Given the description of an element on the screen output the (x, y) to click on. 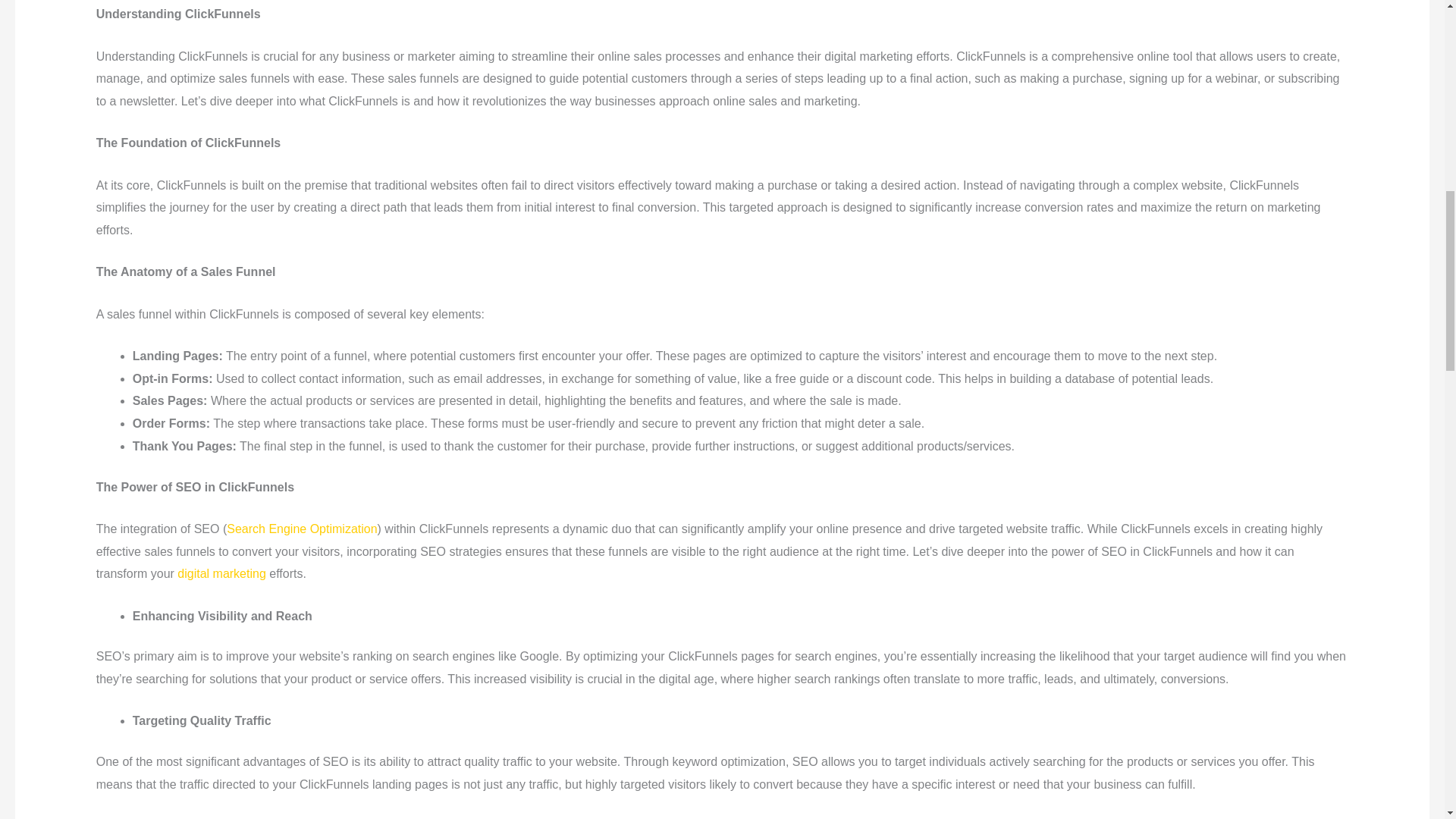
digital marketing (221, 573)
Search Engine Optimization (302, 528)
